Given the description of an element on the screen output the (x, y) to click on. 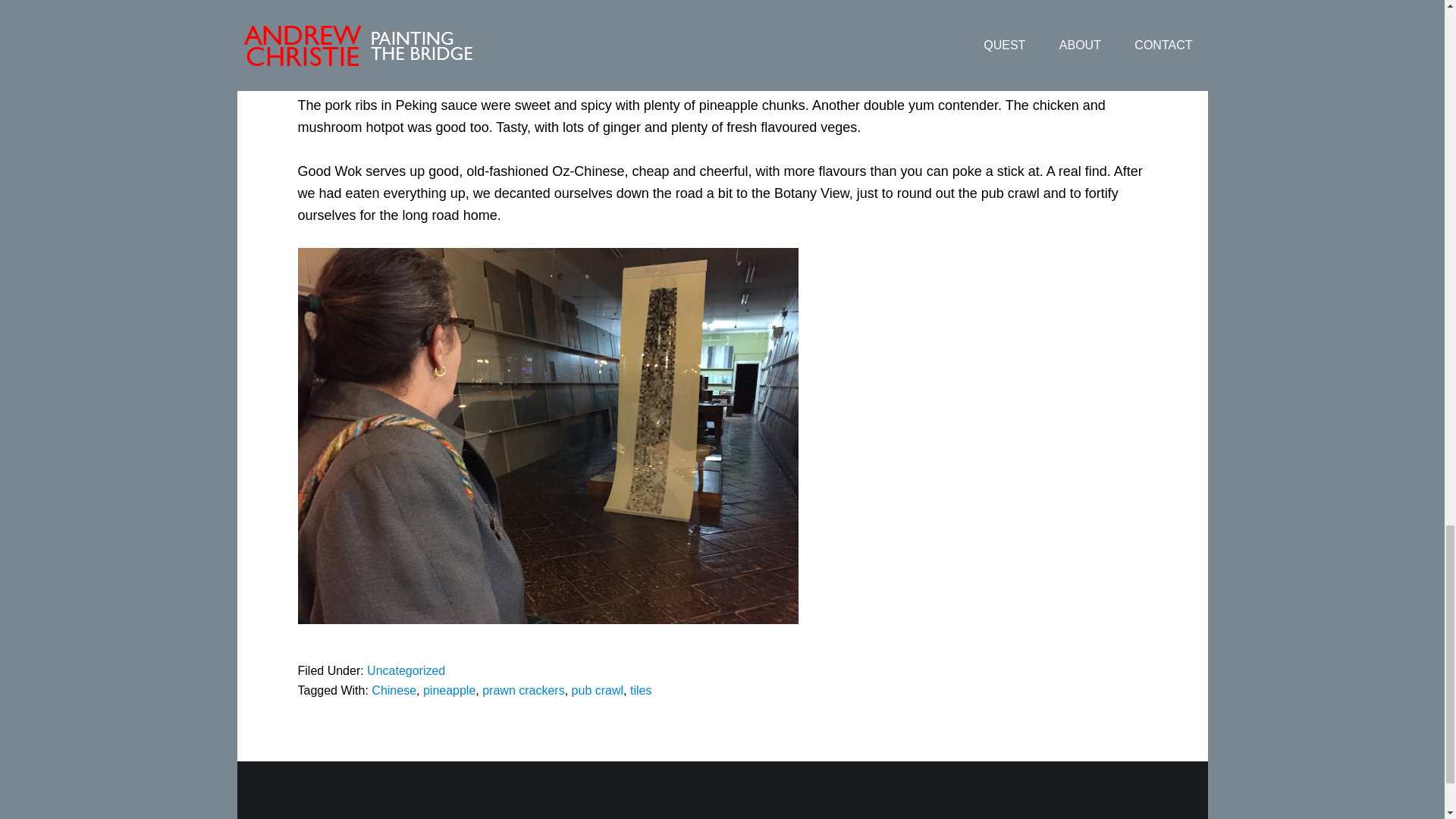
Chinese (393, 689)
prawn crackers (522, 689)
tiles (640, 689)
pub crawl (597, 689)
pineapple (449, 689)
Uncategorized (405, 670)
